Given the description of an element on the screen output the (x, y) to click on. 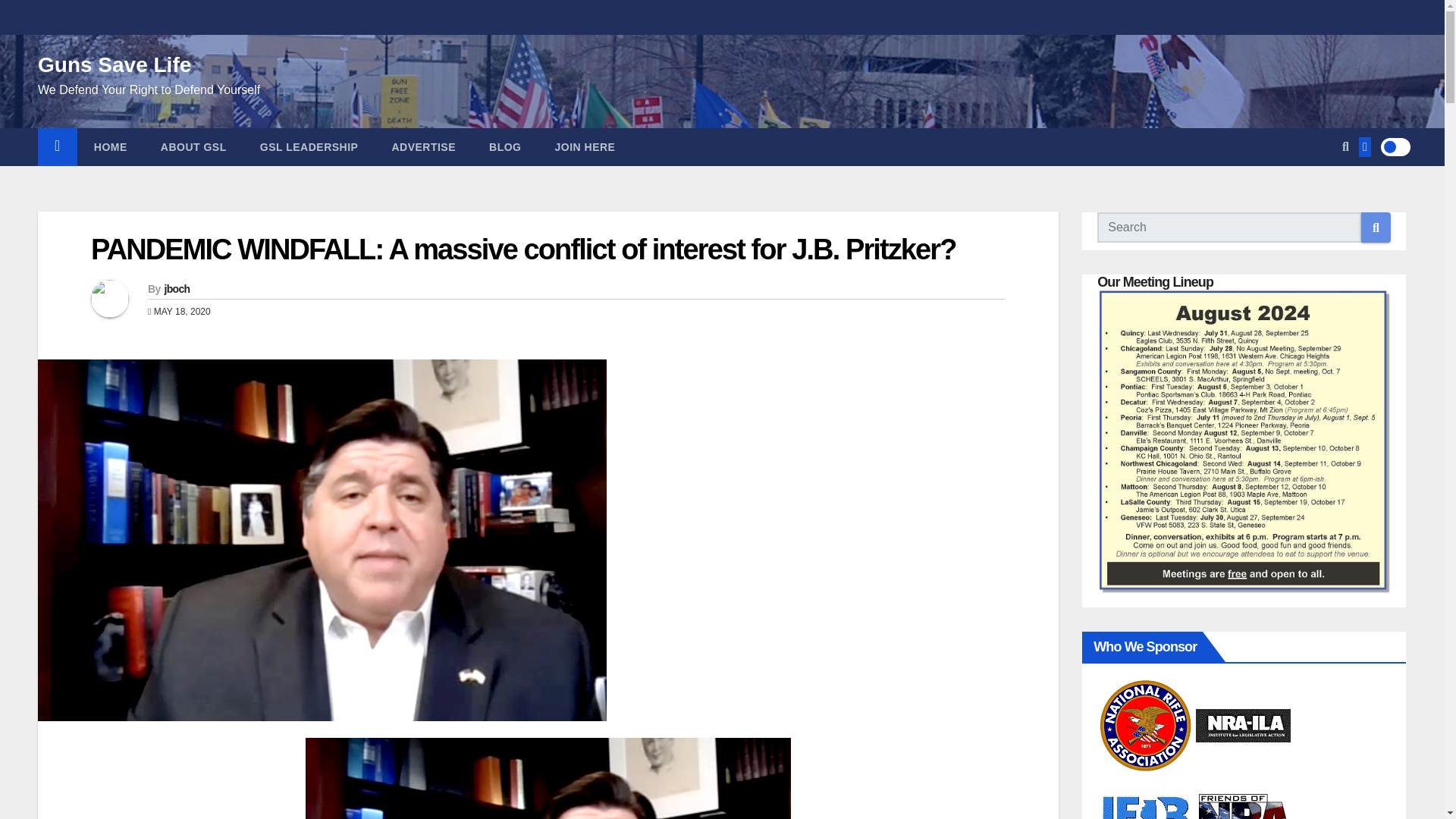
Home (110, 146)
JOIN HERE (584, 146)
HOME (110, 146)
GSL Leadership (309, 146)
Guns Save Life (113, 64)
Home (57, 146)
About GSL (193, 146)
Advertise (422, 146)
GSL LEADERSHIP (309, 146)
